Given the description of an element on the screen output the (x, y) to click on. 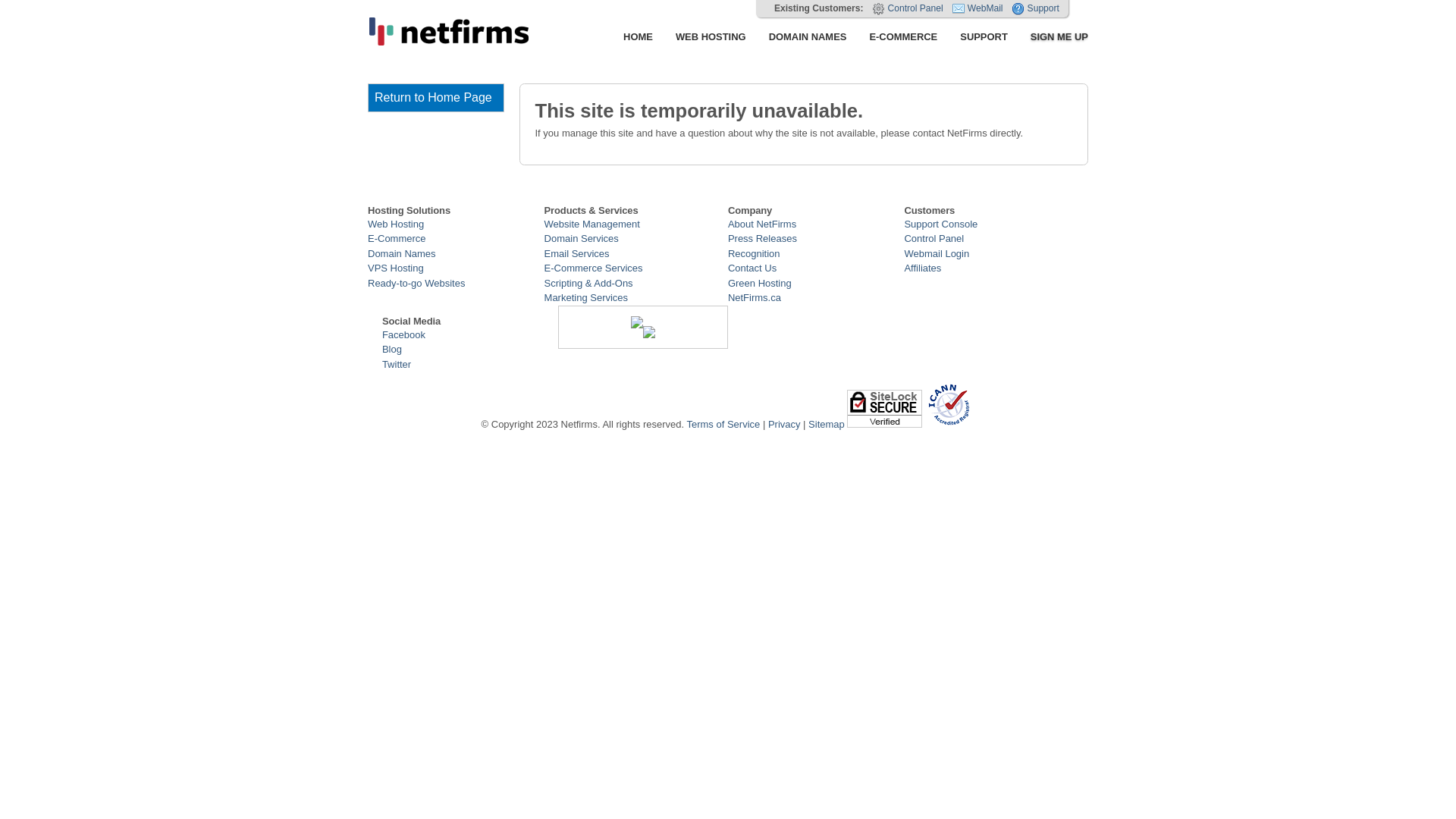
SUPPORT Element type: text (983, 37)
DOMAIN NAMES Element type: text (807, 37)
E-Commerce Services Element type: text (593, 267)
Blog Element type: text (391, 348)
Sitemap Element type: text (826, 423)
Control Panel Element type: text (914, 8)
Green Hosting Element type: text (759, 282)
Contact Us Element type: text (752, 267)
Twitter Element type: text (396, 364)
Domain Names Element type: text (401, 253)
Privacy Element type: text (784, 423)
Facebook Element type: text (403, 334)
E-Commerce Element type: text (396, 238)
Affiliates Element type: text (922, 267)
Support Console Element type: text (940, 223)
Return to Home Page Element type: text (435, 97)
Scripting & Add-Ons Element type: text (588, 282)
About NetFirms Element type: text (762, 223)
WEB HOSTING Element type: text (710, 37)
VPS Hosting Element type: text (395, 267)
NetFirms.ca Element type: text (754, 297)
Website Management Element type: text (592, 223)
Control Panel Element type: text (933, 238)
E-COMMERCE Element type: text (902, 37)
Recognition Element type: text (754, 253)
Domain Services Element type: text (581, 238)
Email Services Element type: text (576, 253)
Support Element type: text (1043, 8)
HOME Element type: text (637, 37)
SIGN ME UP Element type: text (1053, 37)
Ready-to-go Websites Element type: text (415, 282)
Marketing Services Element type: text (586, 297)
WebMail Element type: text (985, 8)
Web Hosting Element type: text (395, 223)
Webmail Login Element type: text (936, 253)
Terms of Service Element type: text (722, 423)
Press Releases Element type: text (762, 238)
